Given the description of an element on the screen output the (x, y) to click on. 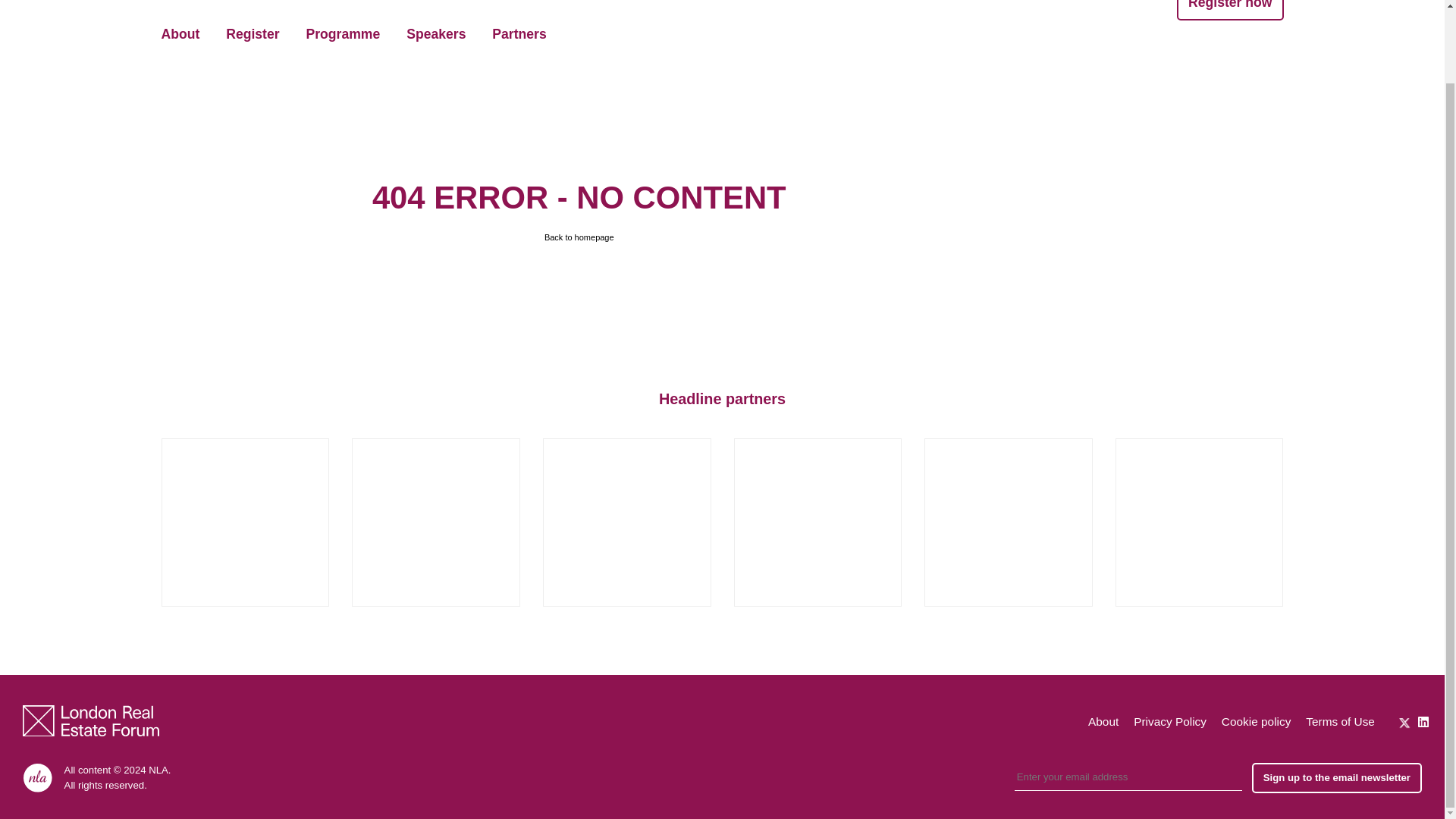
Programme (342, 34)
Privacy Policy (1170, 721)
Register (252, 34)
Register now (1229, 9)
Terms of Use (1340, 721)
Partners (519, 34)
Sign up to the email newsletter (1337, 777)
Back to homepage (579, 236)
Cookie policy (1256, 721)
About (1102, 721)
